Given the description of an element on the screen output the (x, y) to click on. 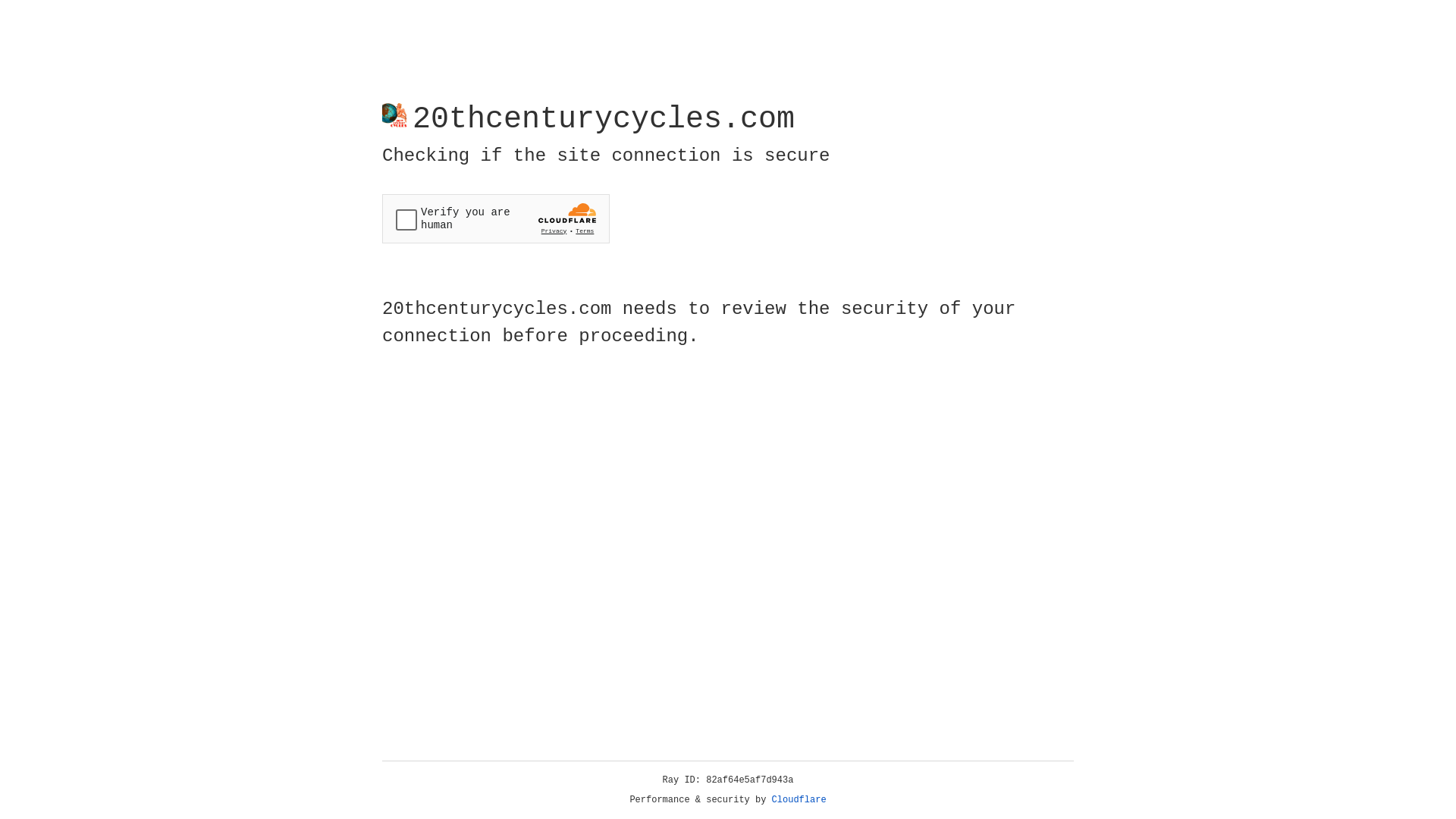
Widget containing a Cloudflare security challenge Element type: hover (495, 218)
Cloudflare Element type: text (798, 799)
